Given the description of an element on the screen output the (x, y) to click on. 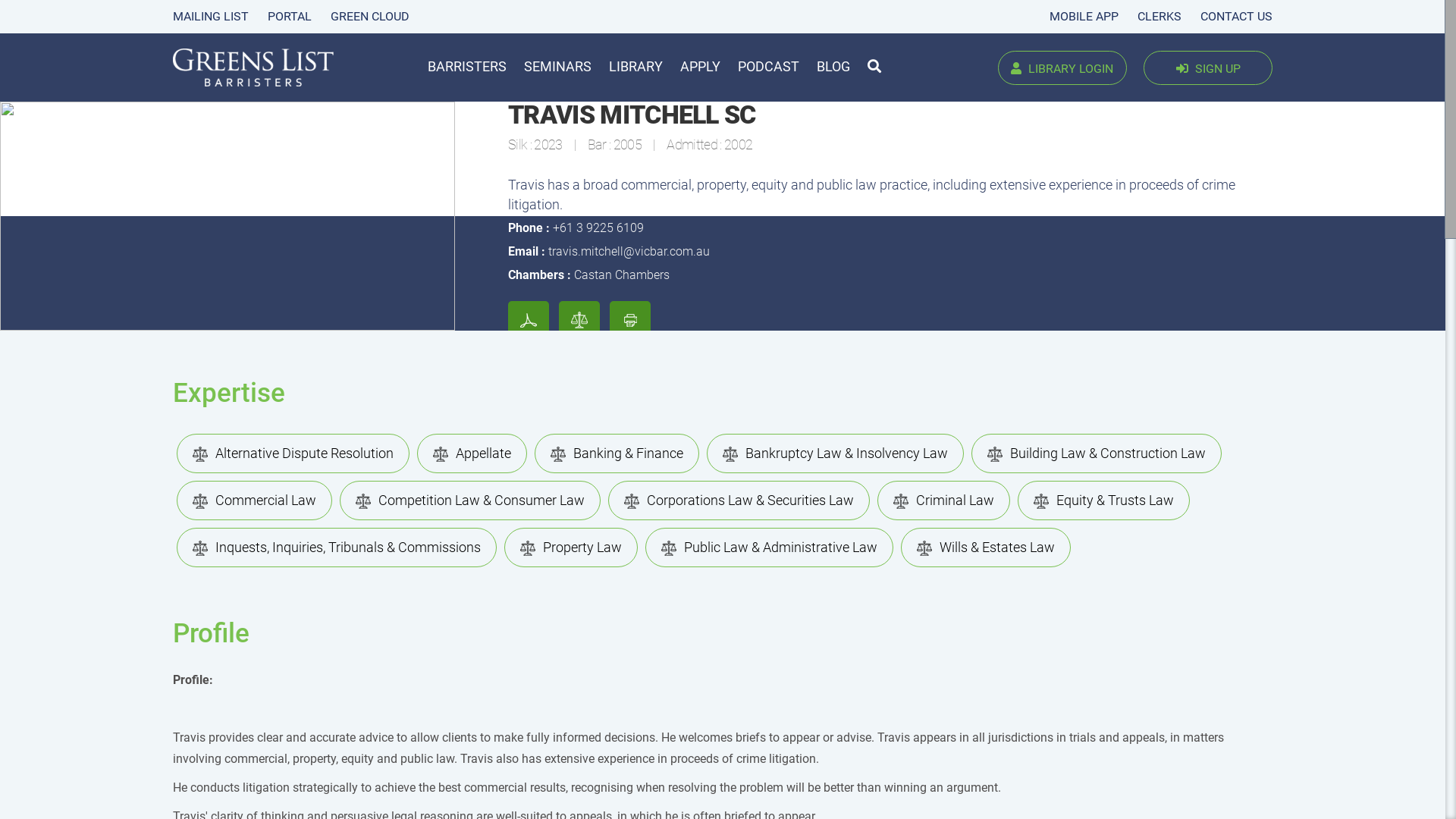
Alternative Dispute Resolution Element type: text (292, 453)
Public Law & Administrative Law Element type: text (769, 547)
Commercial Law Element type: text (254, 500)
GREEN CLOUD Element type: text (369, 16)
BLOG Element type: text (833, 66)
PORTAL Element type: text (289, 16)
SEMINARS Element type: text (557, 66)
Criminal Law Element type: text (943, 500)
MOBILE APP Element type: text (1083, 16)
BARRISTERS Element type: text (466, 66)
PODCAST Element type: text (768, 66)
Competition Law & Consumer Law Element type: text (469, 500)
CLERKS Element type: text (1159, 16)
travis.mitchell@vicbar.com.au Element type: text (628, 251)
Equity & Trusts Law Element type: text (1103, 500)
Corporations Law & Securities Law Element type: text (738, 500)
+61 3 9225 6109 Element type: text (597, 227)
CONTACT US Element type: text (1236, 16)
Building Law & Construction Law Element type: text (1096, 453)
Inquests, Inquiries, Tribunals & Commissions Element type: text (336, 547)
Property Law Element type: text (570, 547)
Bankruptcy Law & Insolvency Law Element type: text (834, 453)
SIGN UP Element type: text (1207, 67)
MAILING LIST Element type: text (210, 16)
LIBRARY Element type: text (635, 66)
APPLY Element type: text (700, 66)
Wills & Estates Law Element type: text (985, 547)
Banking & Finance Element type: text (616, 453)
LIBRARY LOGIN Element type: text (1061, 67)
Appellate Element type: text (472, 453)
